Given the description of an element on the screen output the (x, y) to click on. 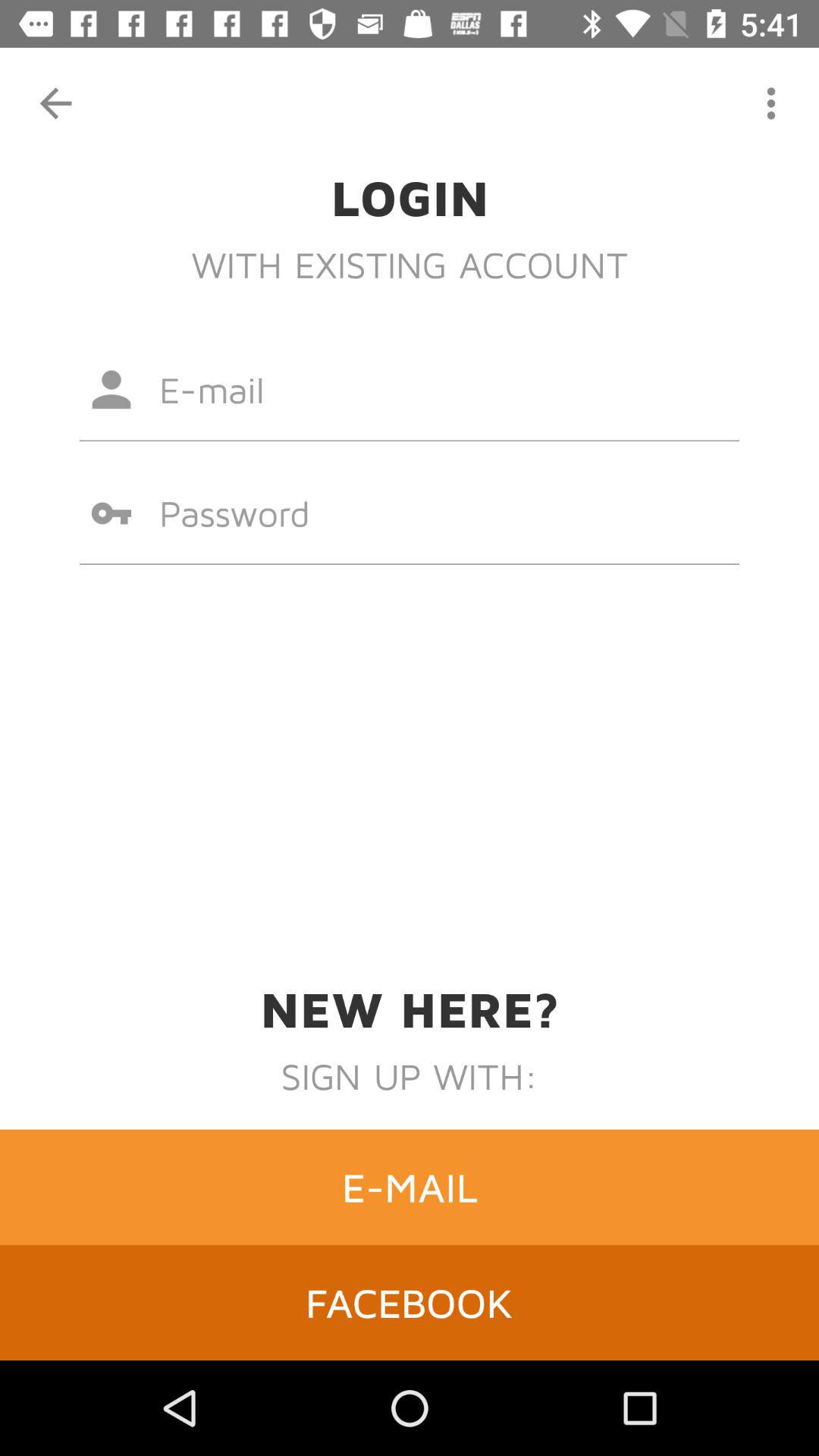
click the icon below the e-mail item (409, 1302)
